Given the description of an element on the screen output the (x, y) to click on. 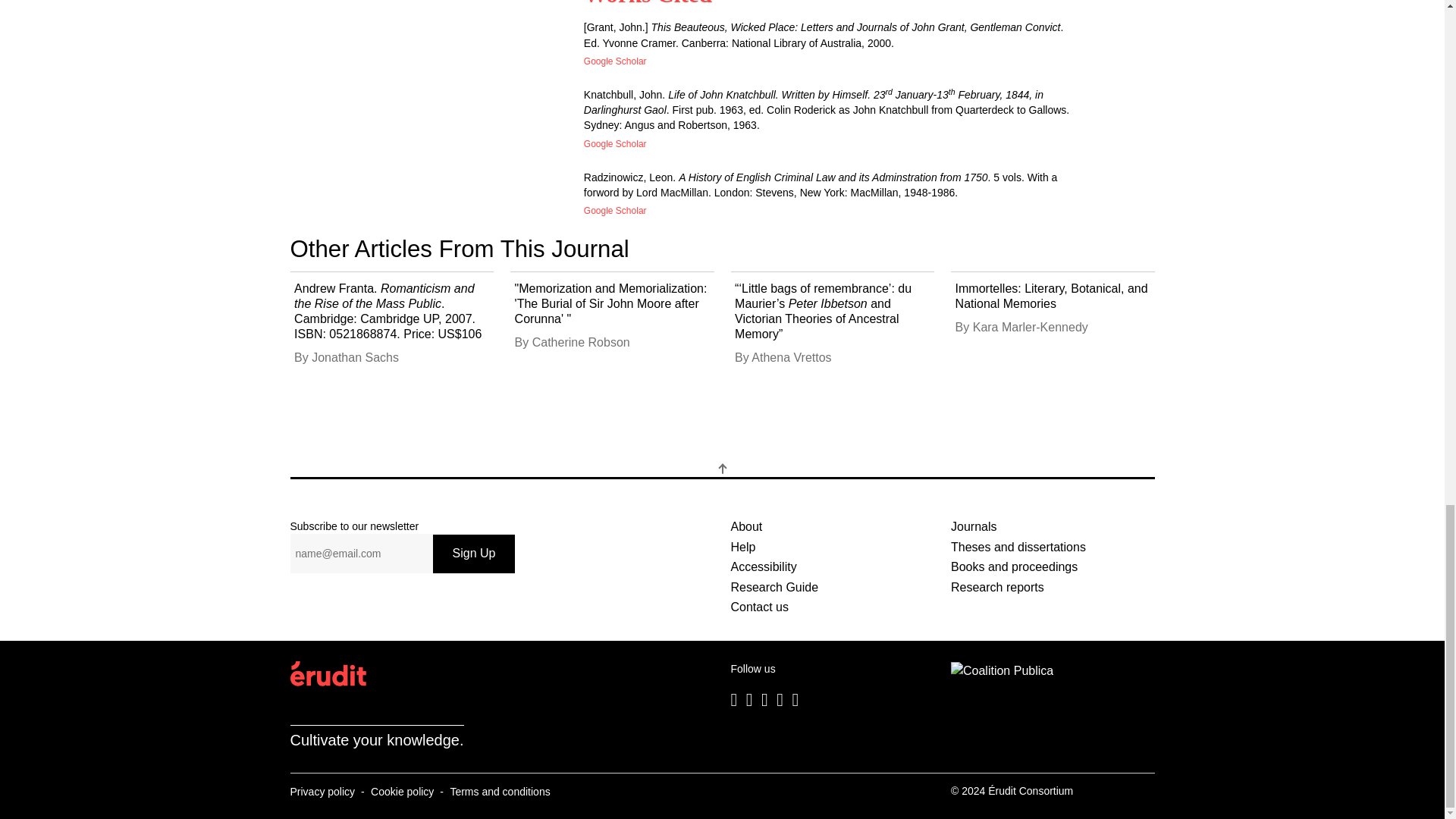
Sign Up (473, 553)
